Given the description of an element on the screen output the (x, y) to click on. 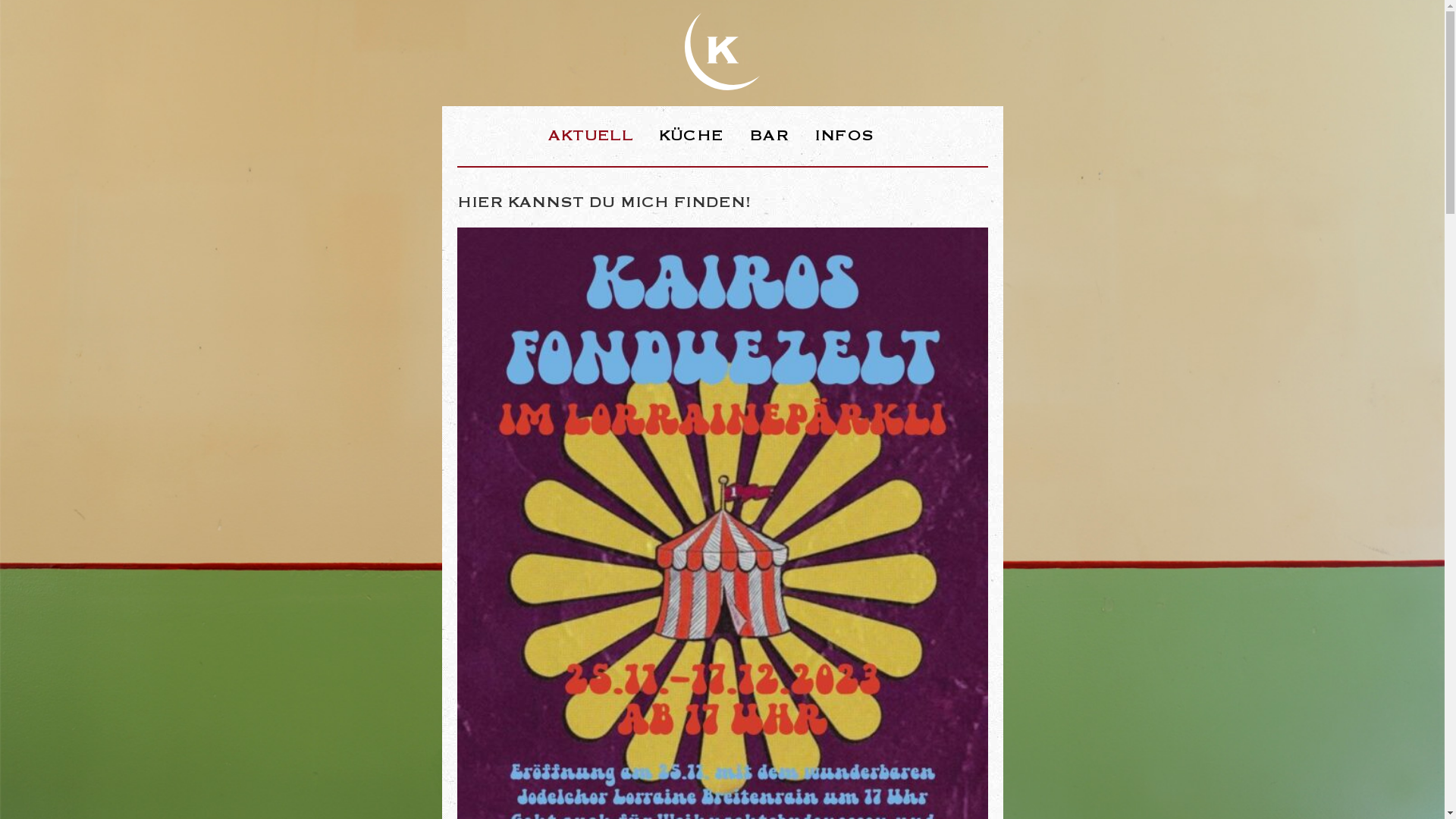
AKTUELL Element type: text (590, 134)
BAR Element type: text (768, 134)
INFOS Element type: text (844, 134)
